Given the description of an element on the screen output the (x, y) to click on. 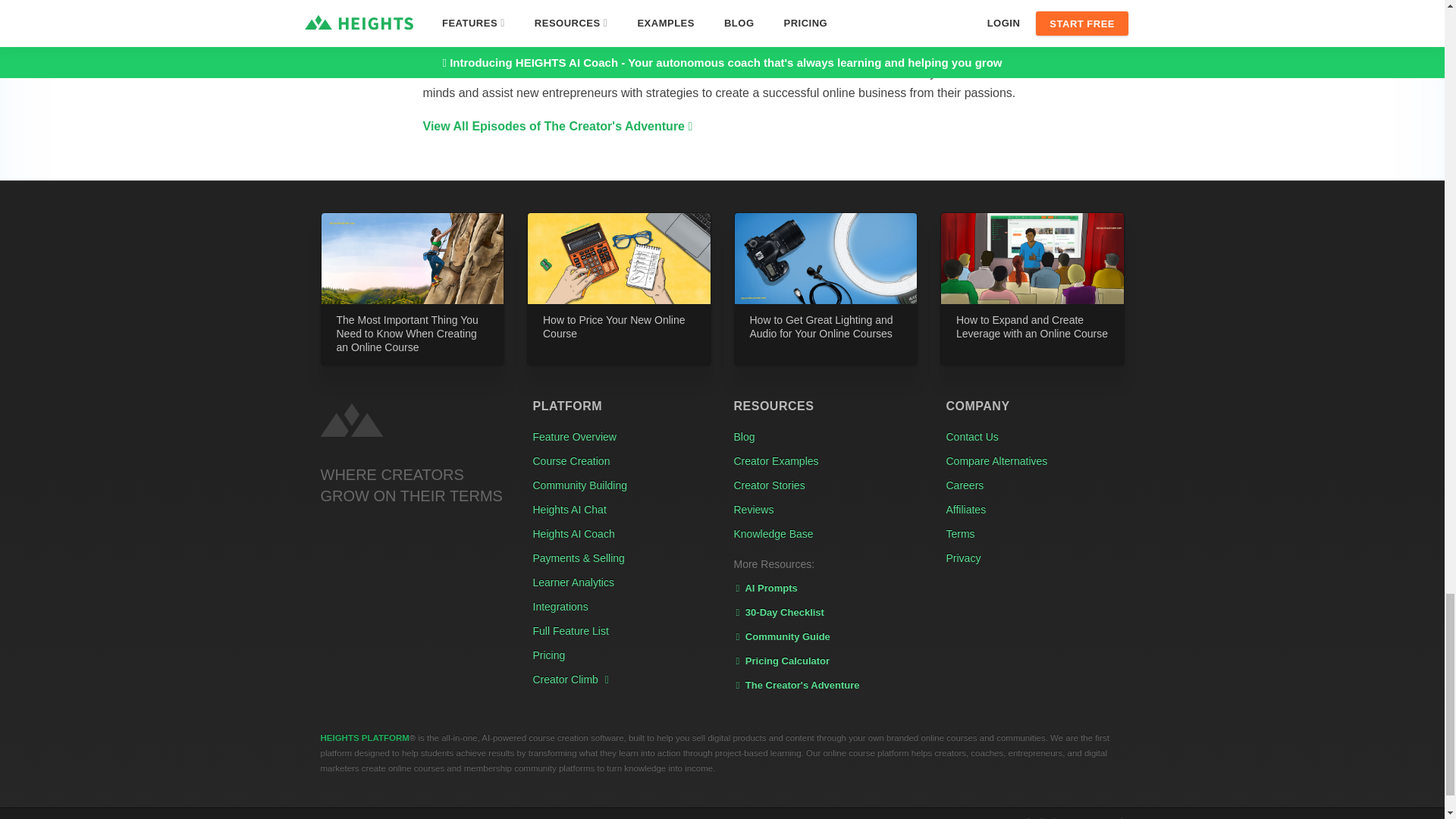
Heights Platform Support (350, 419)
